Given the description of an element on the screen output the (x, y) to click on. 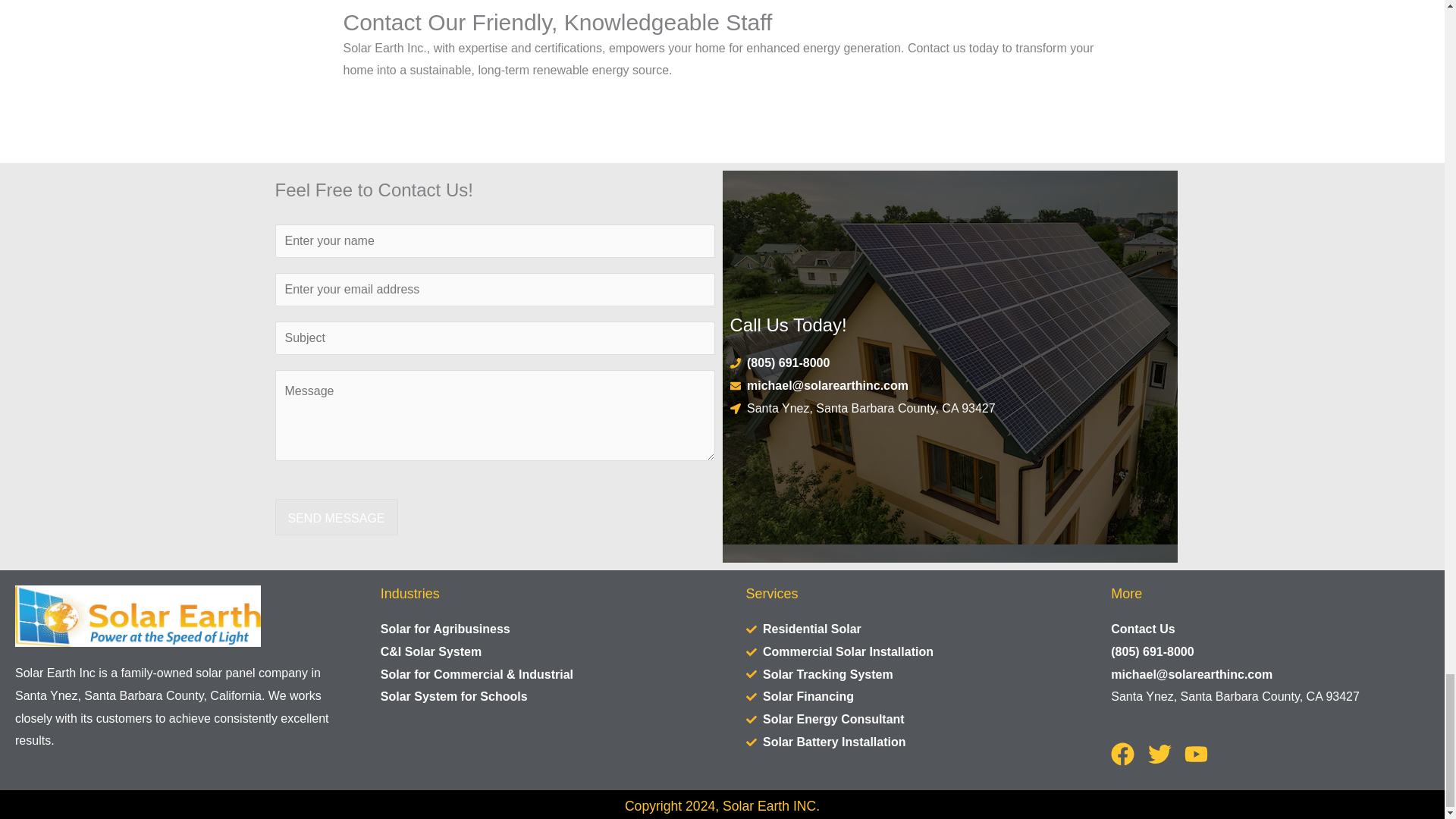
SEND MESSAGE (336, 516)
Solar Energy Consultant (904, 719)
Commercial Solar Installation (904, 651)
Residential Solar (904, 629)
Solar Financing (904, 696)
Solar Tracking System (904, 674)
Solar for Agribusiness (539, 629)
Solar System for Schools (539, 696)
